Given the description of an element on the screen output the (x, y) to click on. 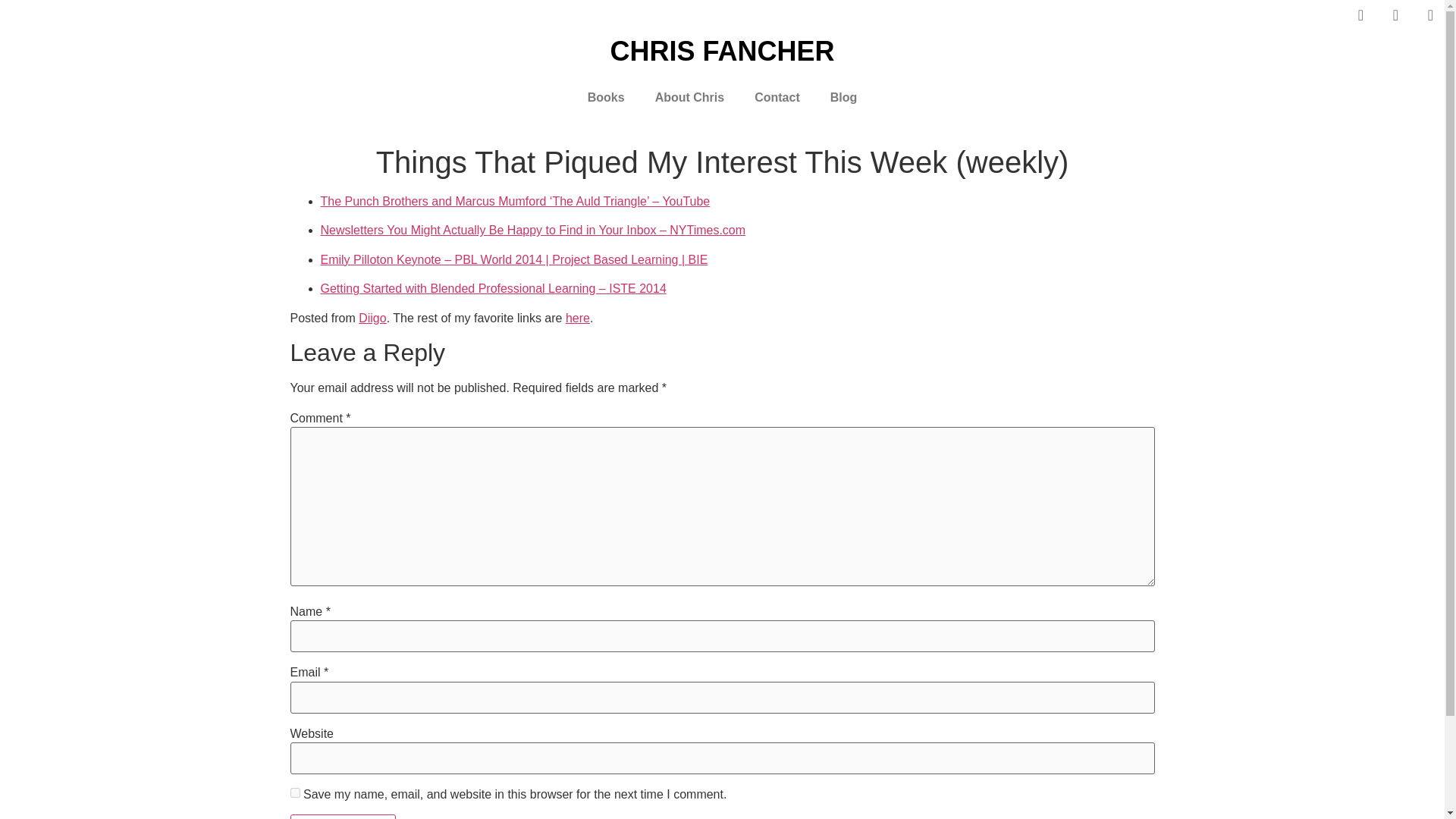
Blog (843, 97)
Post Comment (342, 816)
About Chris (689, 97)
Contact (777, 97)
here (577, 318)
Diigo (371, 318)
yes (294, 792)
Post Comment (342, 816)
CHRIS FANCHER (722, 51)
Books (606, 97)
